Given the description of an element on the screen output the (x, y) to click on. 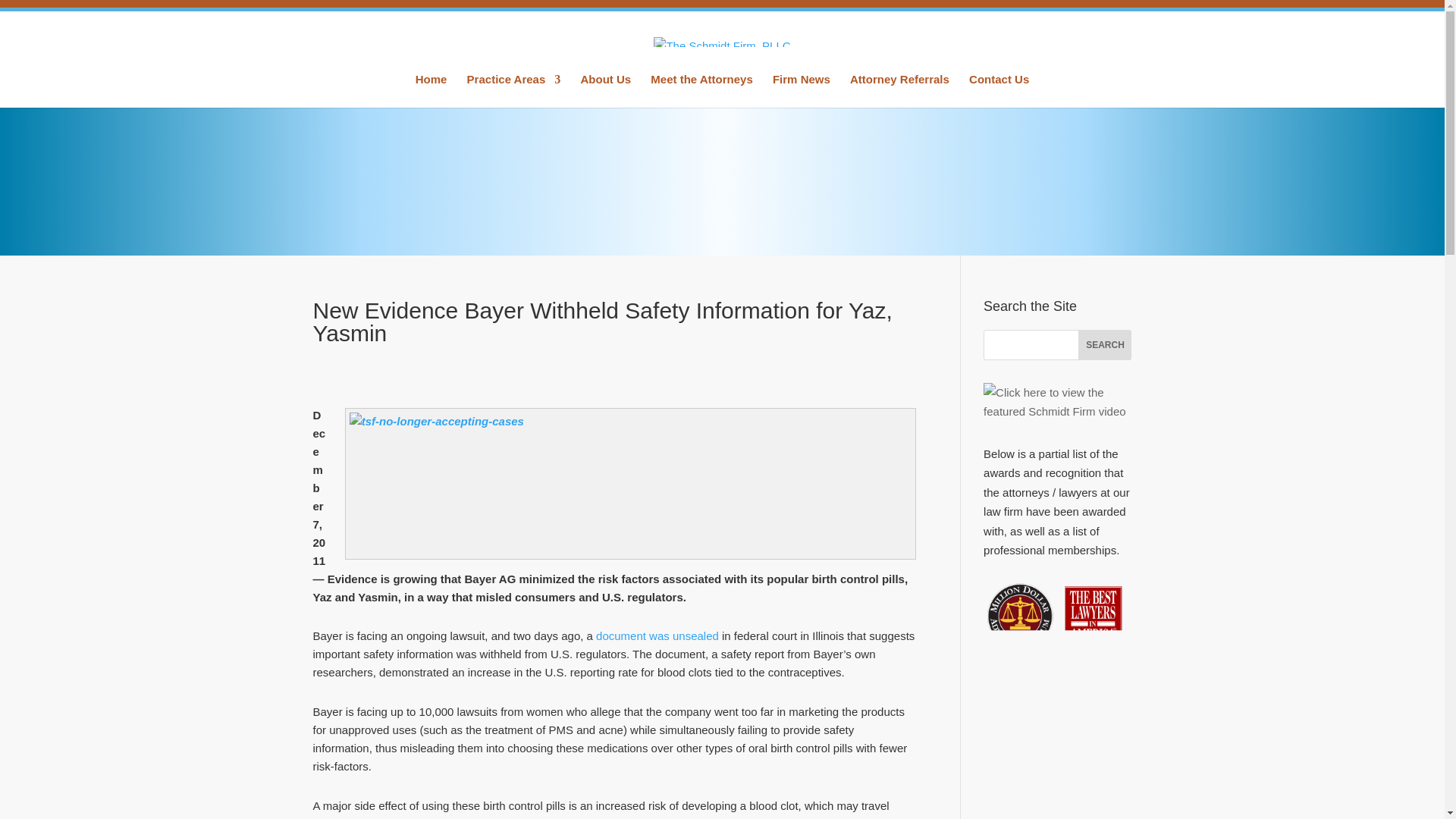
document was unsealed (655, 635)
Attorney Referrals (899, 90)
Search (1104, 345)
Search (1104, 345)
Meet the Attorneys (701, 90)
Practice Areas (513, 90)
Home (430, 90)
About Us (604, 90)
Firm News (801, 90)
Contact Us (999, 90)
